Given the description of an element on the screen output the (x, y) to click on. 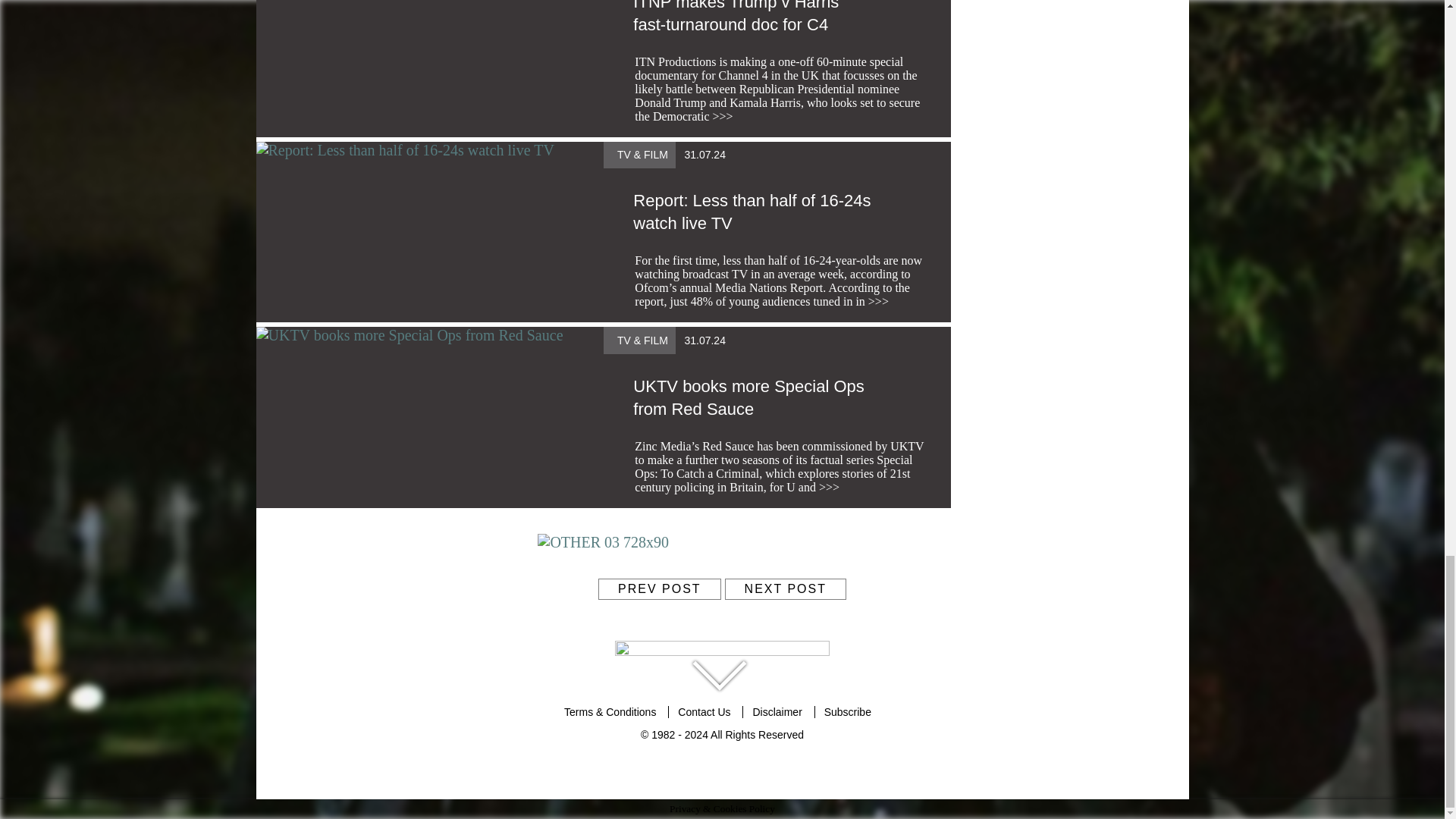
televisual-logo (721, 653)
